Given the description of an element on the screen output the (x, y) to click on. 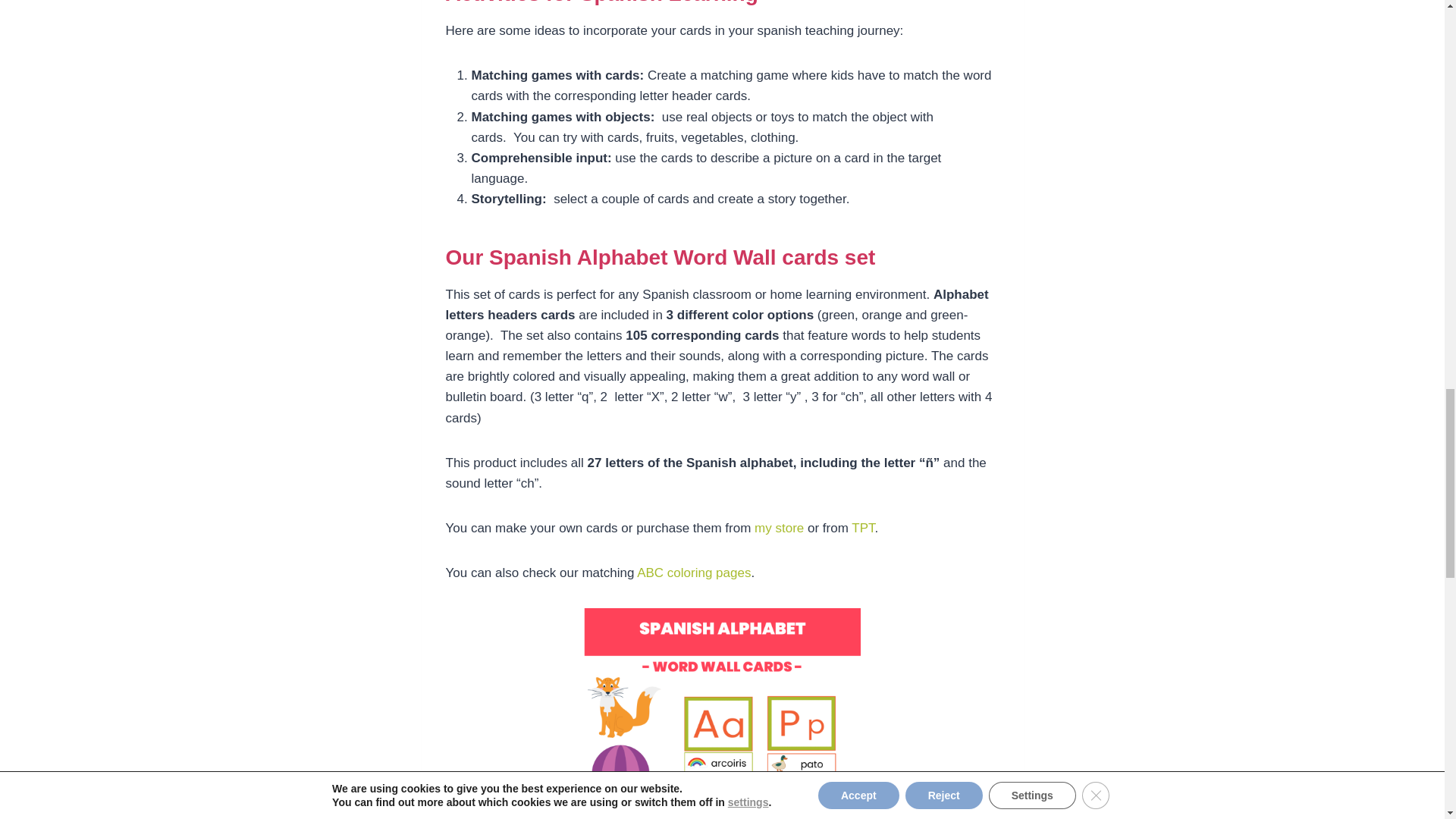
my store (778, 527)
TPT (863, 527)
ABC coloring pages (694, 572)
